Given the description of an element on the screen output the (x, y) to click on. 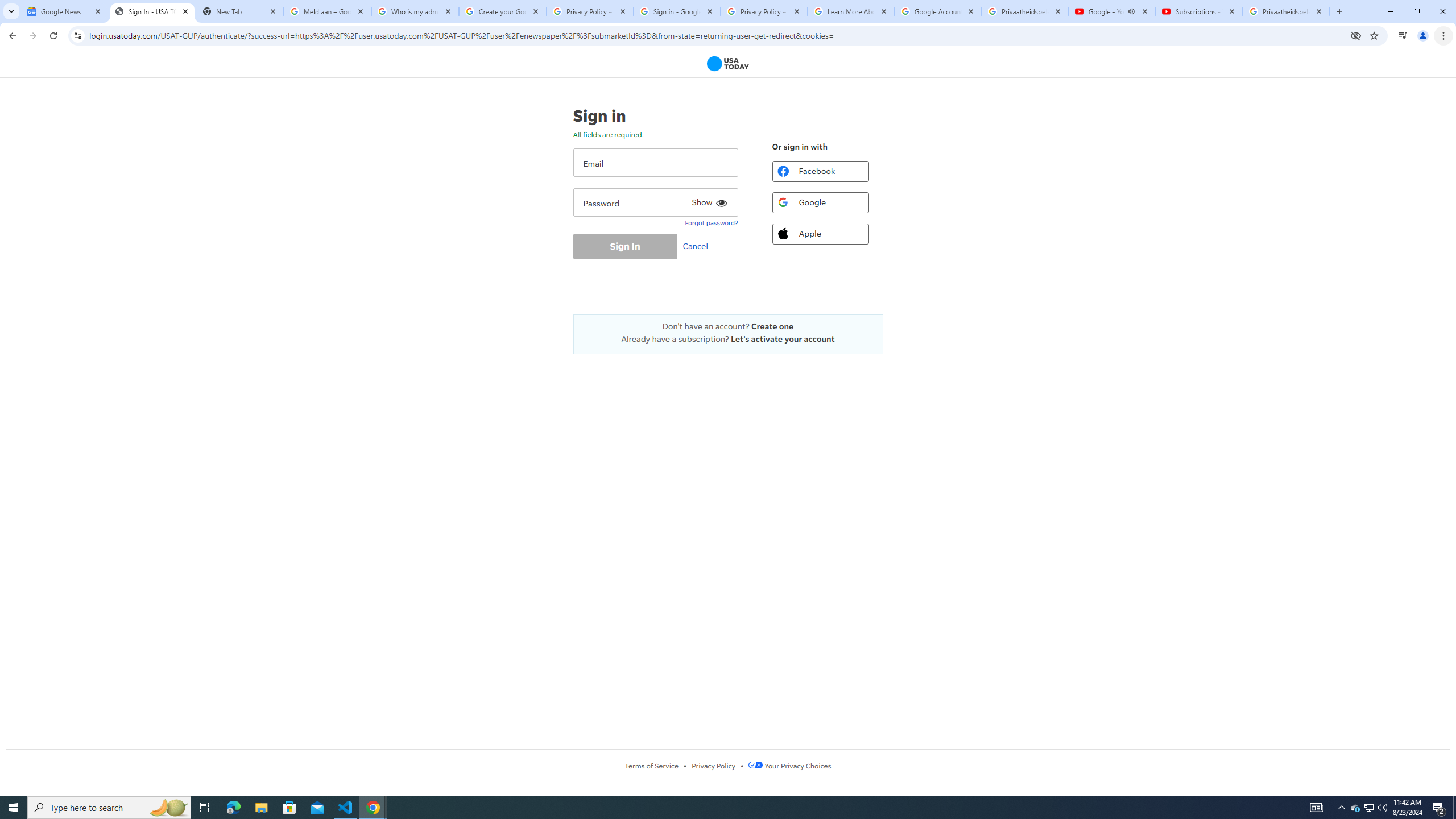
Google (820, 201)
New Tab (239, 11)
Apple (820, 233)
Sign In (624, 246)
USA TODAY (727, 64)
Mute tab (1130, 10)
Google News (64, 11)
System (6, 6)
Bookmark this tab (1373, 35)
Show (707, 200)
System (6, 6)
Already have a subscription? Let's activate your account (727, 338)
Reload (52, 35)
